Given the description of an element on the screen output the (x, y) to click on. 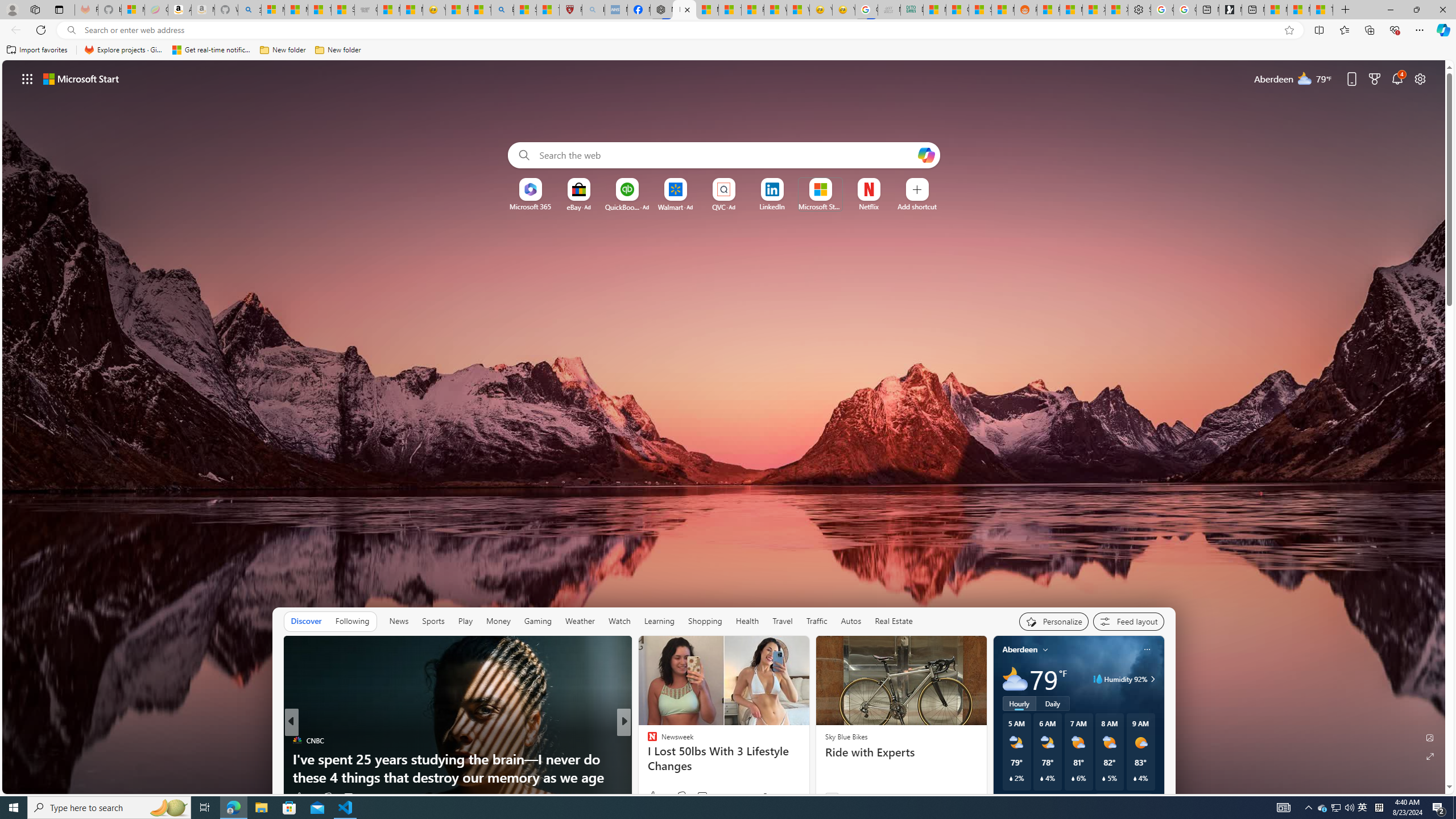
CNBC (296, 740)
Moneywise (647, 740)
3 Like (651, 796)
See full forecast (1123, 799)
Autos (851, 621)
LinkedIn (771, 206)
51 Like (652, 796)
5k Like (656, 795)
High Cholesterol? Blame These 40 Foods (807, 777)
